Given the description of an element on the screen output the (x, y) to click on. 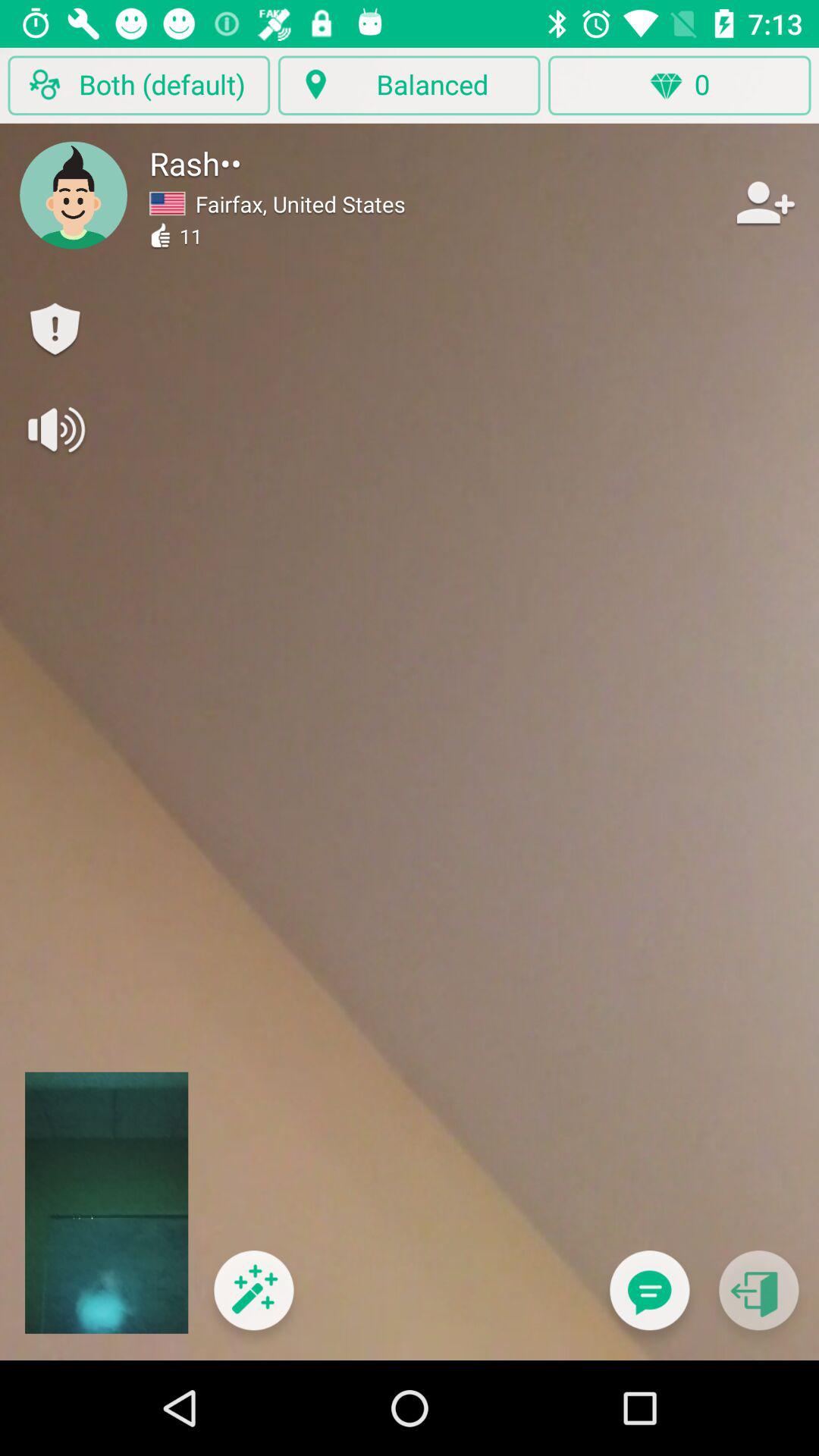
add friend (763, 202)
